Given the description of an element on the screen output the (x, y) to click on. 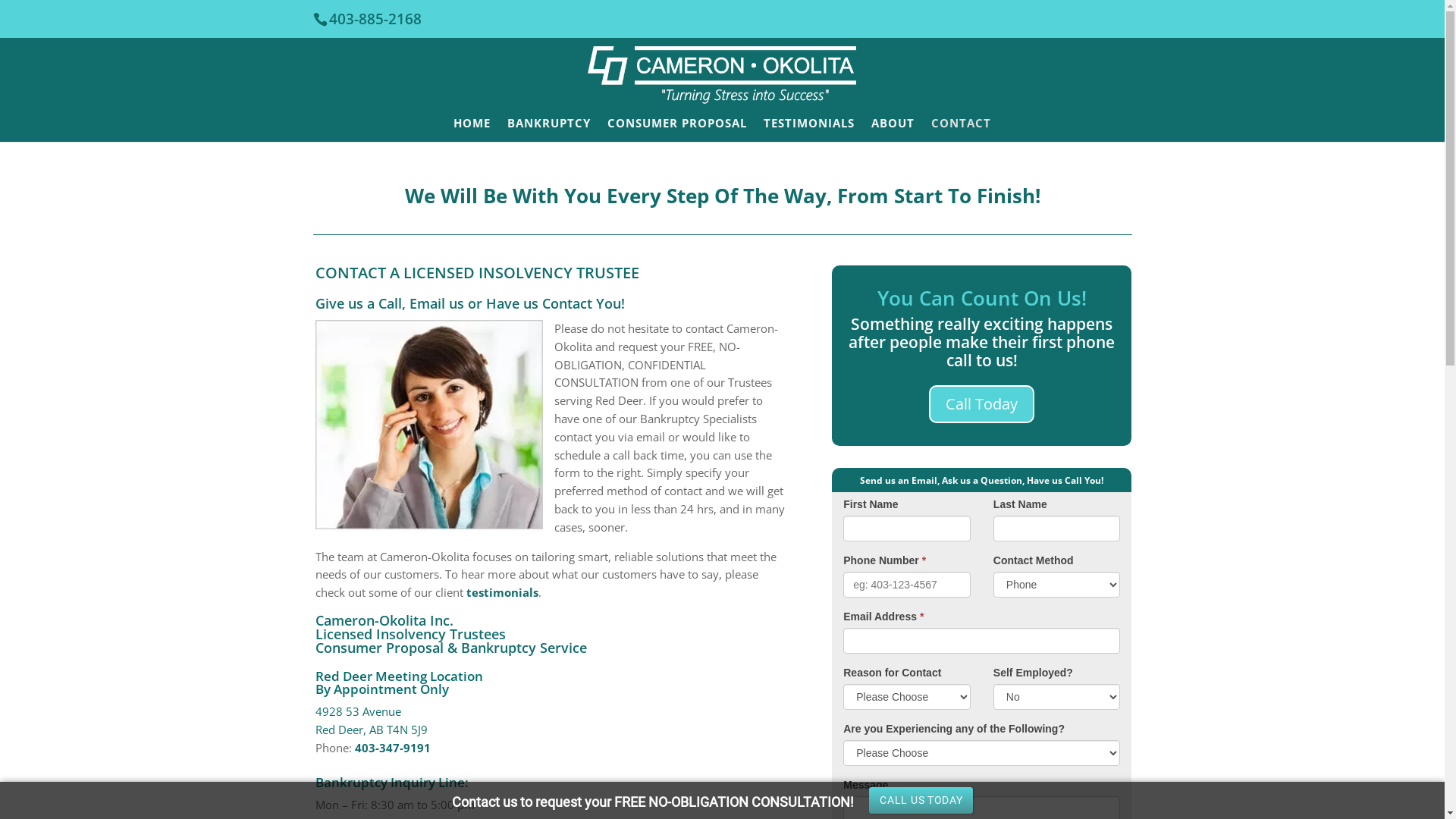
testimonials Element type: text (501, 591)
CONTACT Element type: text (961, 128)
BANKRUPTCY Element type: text (548, 128)
TESTIMONIALS Element type: text (808, 128)
403-885-2168 Element type: text (375, 18)
4928 53 Avenue Element type: text (358, 710)
ABOUT Element type: text (892, 128)
403-347-9191 Element type: text (392, 747)
Call Today Element type: text (981, 404)
CONSUMER PROPOSAL Element type: text (676, 128)
Red Deer, AB T4N 5J9 Element type: text (371, 729)
HOME Element type: text (471, 128)
